Given the description of an element on the screen output the (x, y) to click on. 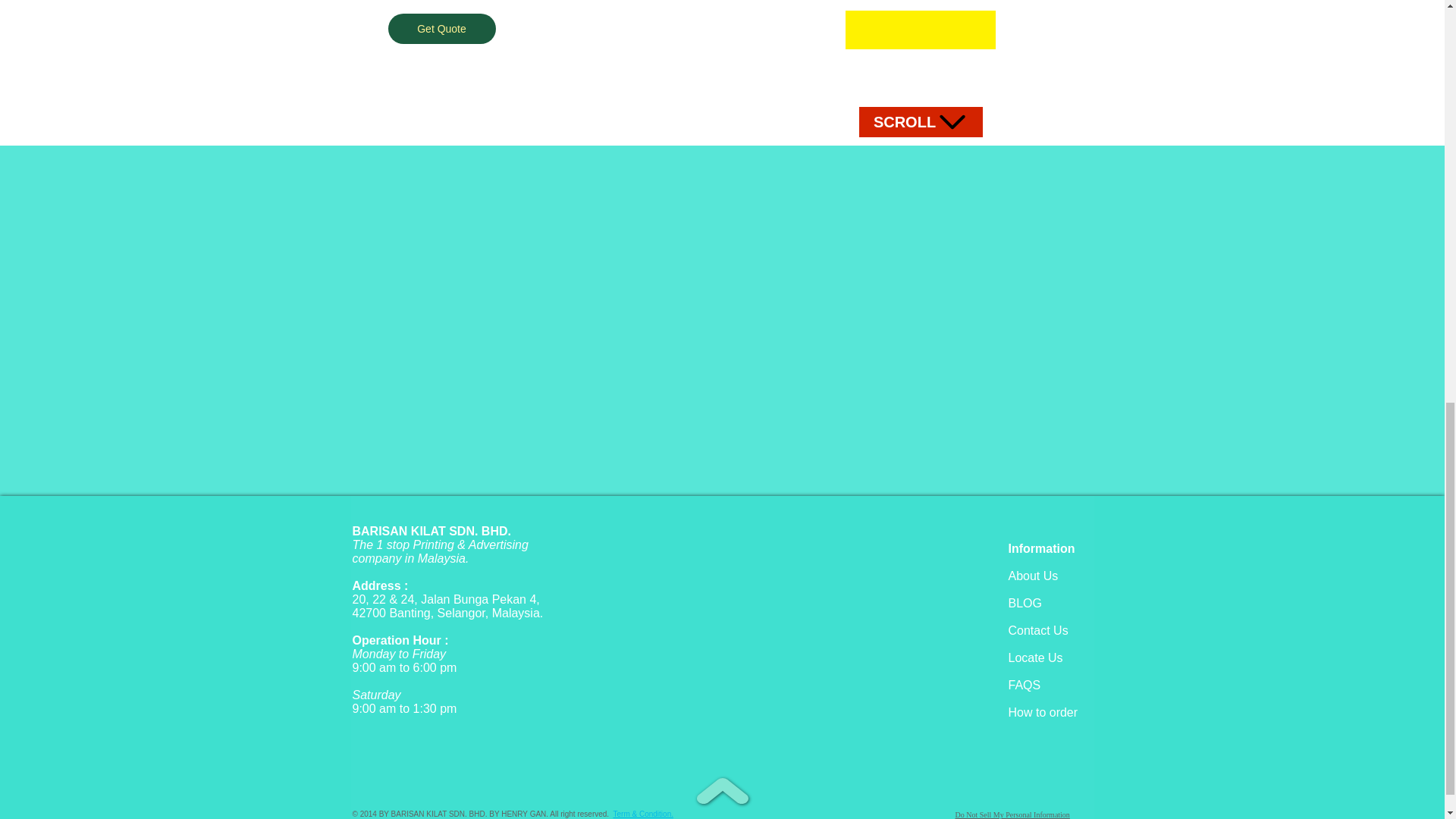
Get Quote (442, 28)
Locate Us (1035, 657)
BLOG (1025, 603)
FAQS (1025, 684)
SCROLL (920, 122)
About Us (1033, 575)
Contact Us (1038, 630)
How to orde (1041, 712)
Do Not Sell My Personal Information (1012, 814)
